Given the description of an element on the screen output the (x, y) to click on. 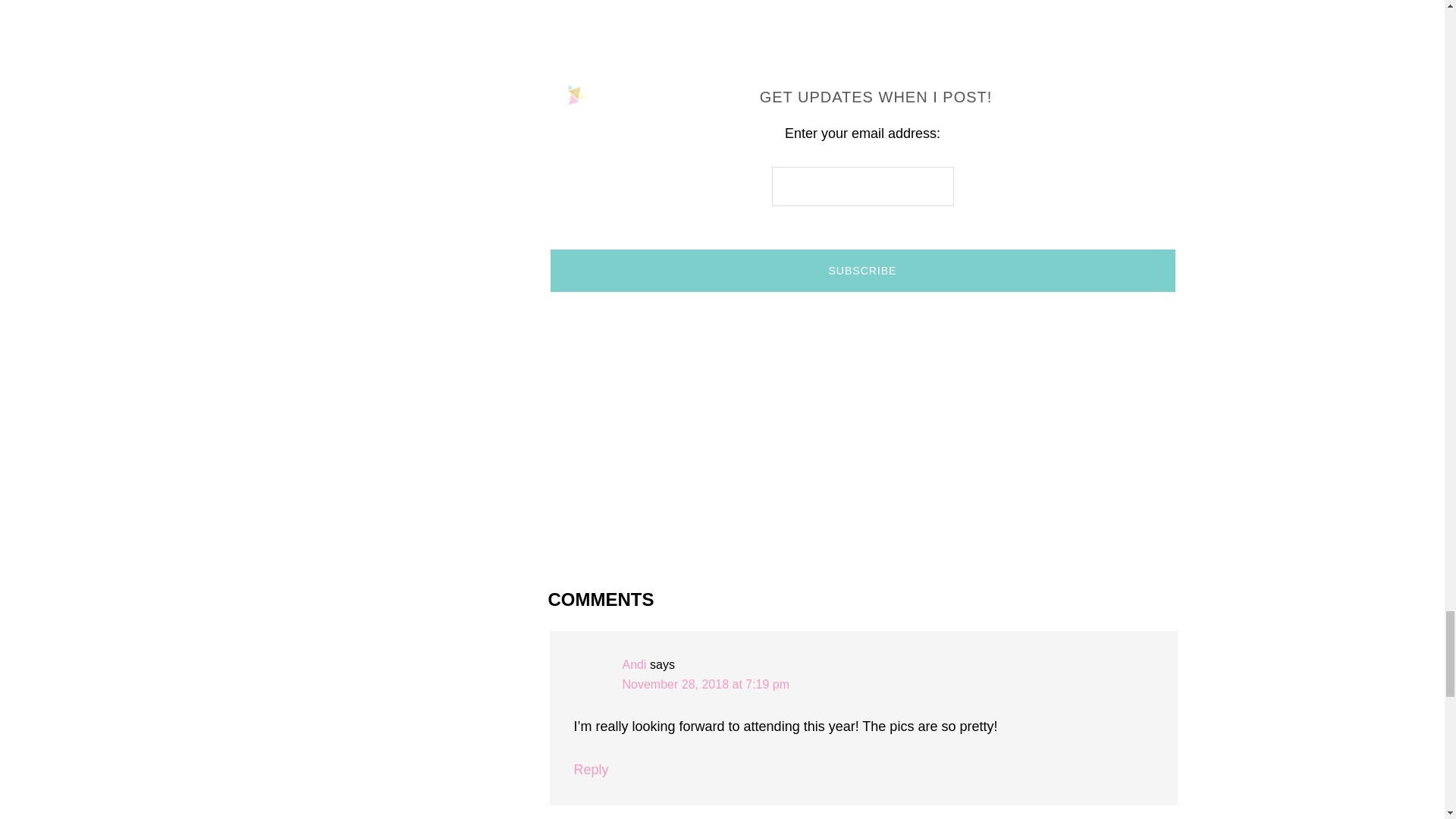
Subscribe (862, 270)
